Given the description of an element on the screen output the (x, y) to click on. 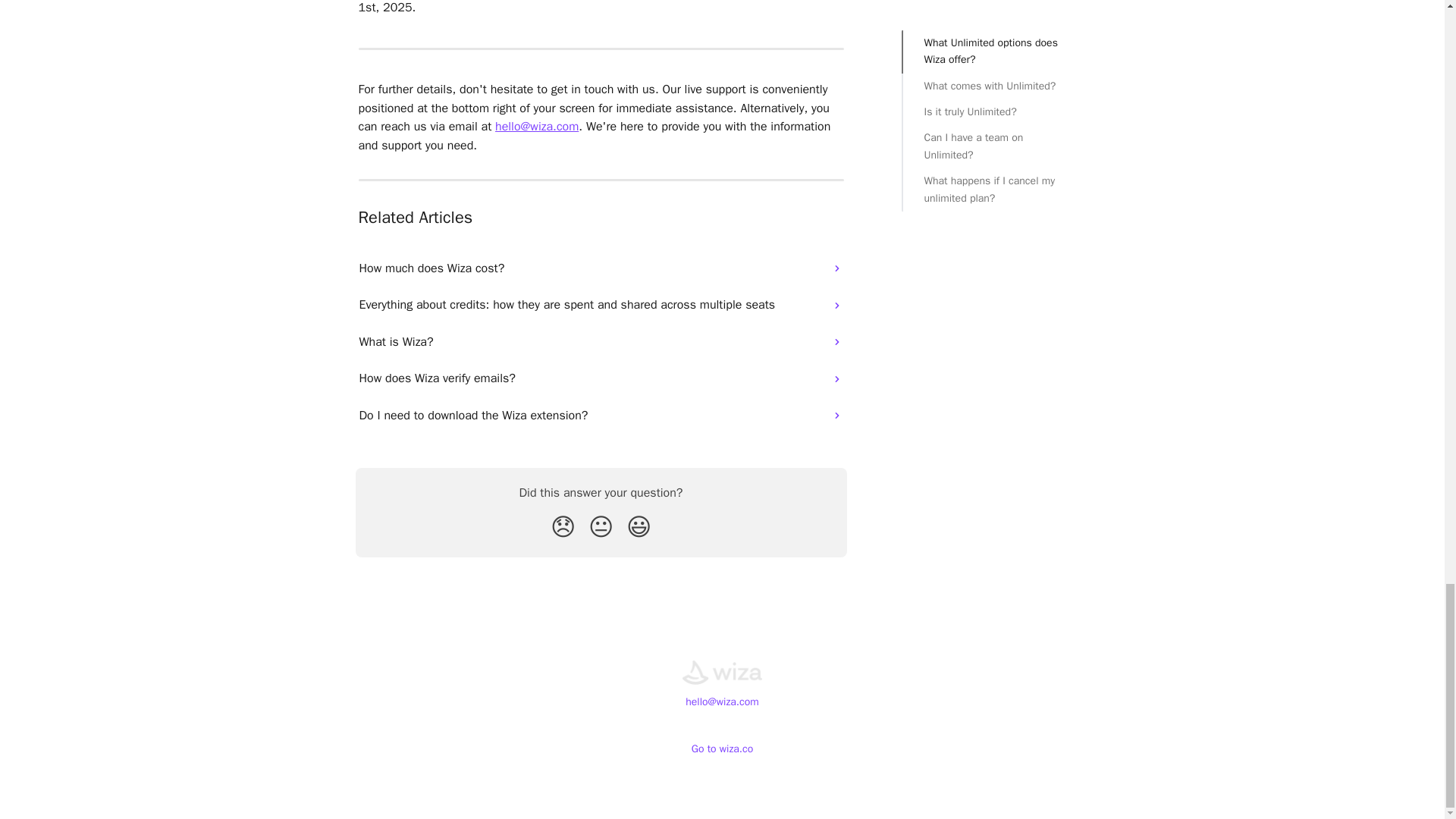
Go to wiza.co (722, 748)
How much does Wiza cost? (600, 268)
How does Wiza verify emails? (600, 378)
What is Wiza? (600, 341)
Do I need to download the Wiza extension? (600, 415)
